Given the description of an element on the screen output the (x, y) to click on. 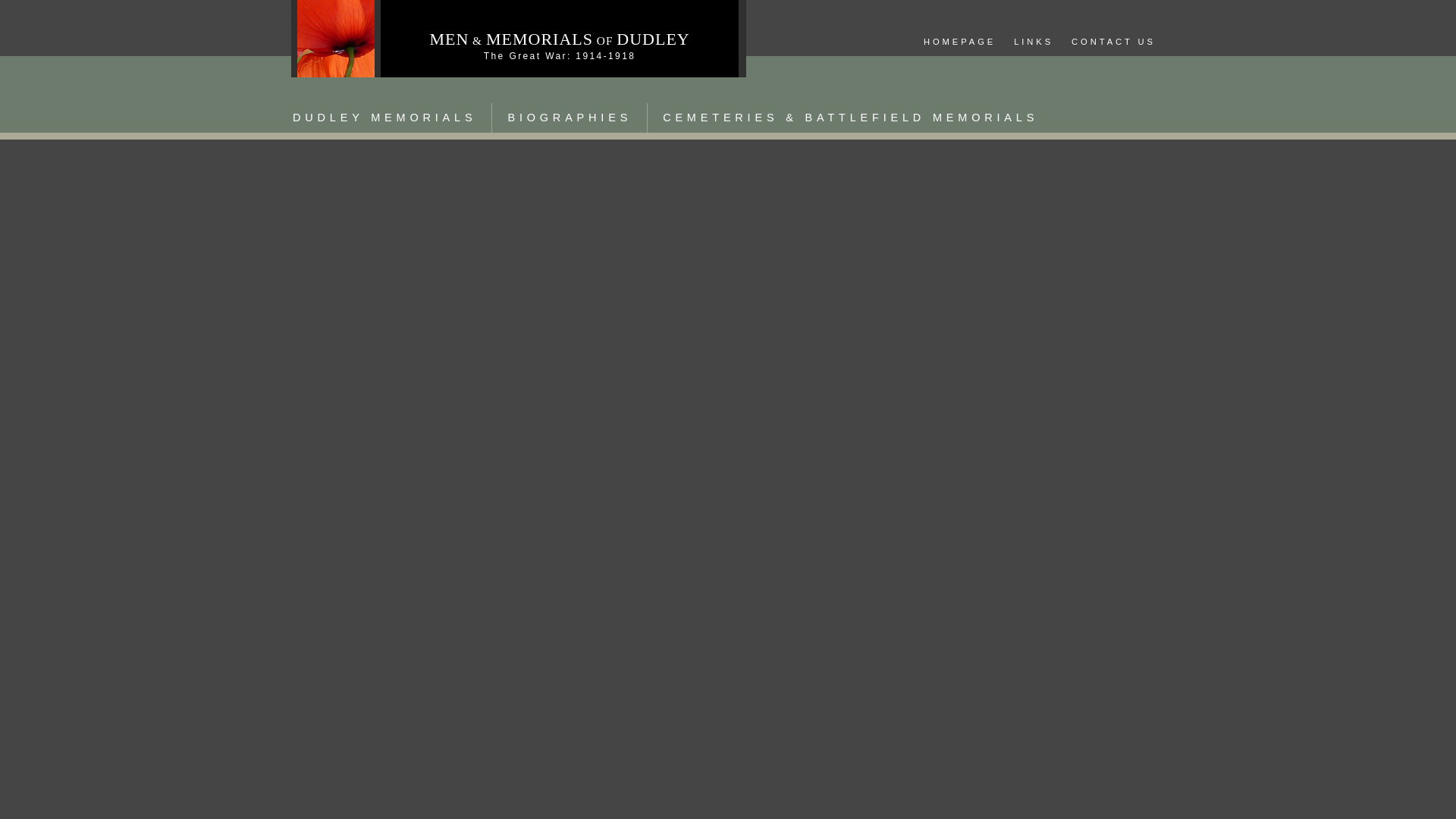
BIOGRAPHIES (569, 117)
LINKS (1033, 42)
Other Memorials (849, 117)
Homepage (959, 42)
Contact Us (1113, 42)
DUDLEY MEMORIALS (385, 117)
CONTACT US (1113, 42)
HOMEPAGE (959, 42)
Links (1033, 42)
Dudley Memorials (385, 117)
